Given the description of an element on the screen output the (x, y) to click on. 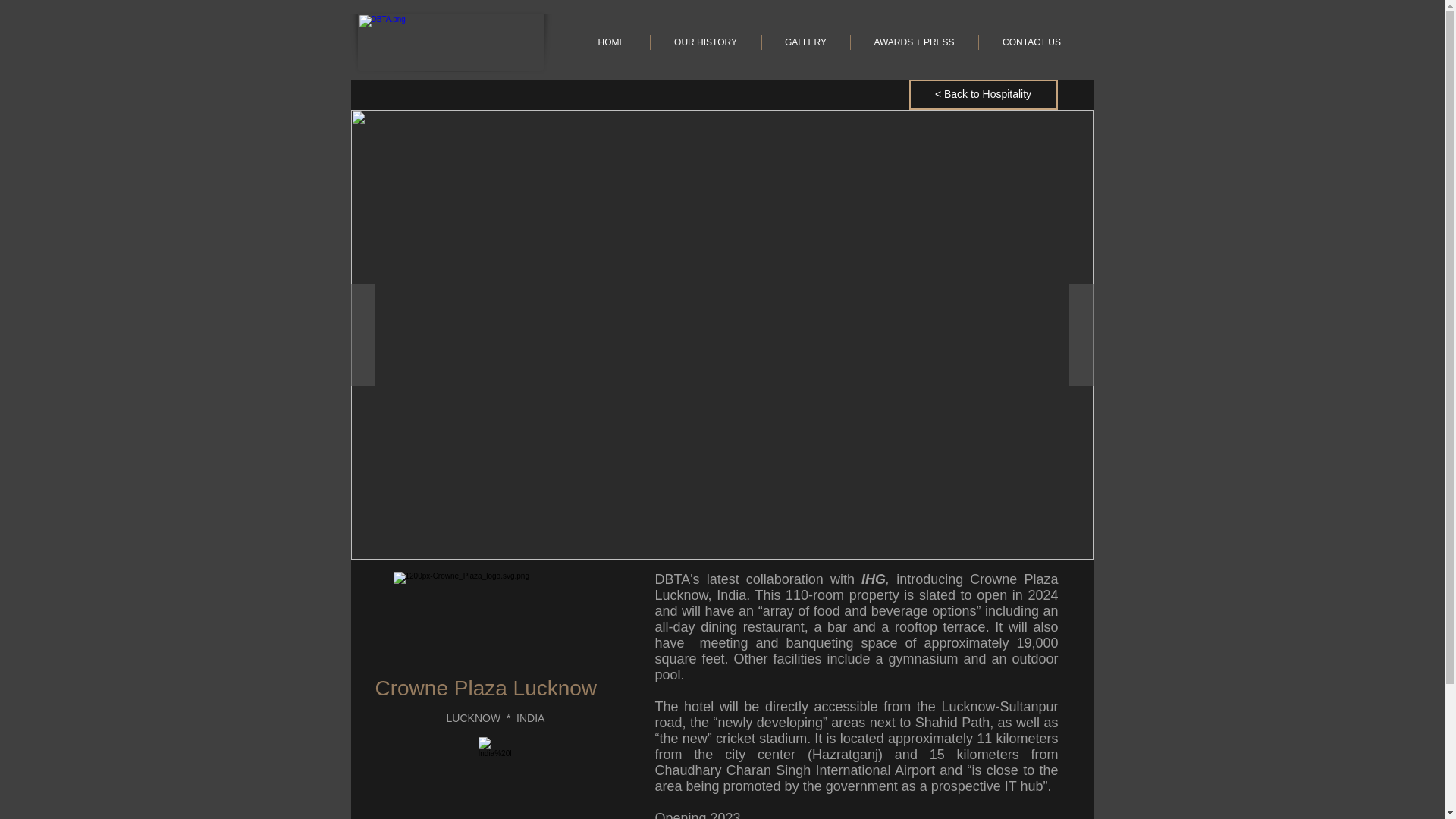
OUR HISTORY (704, 42)
CONTACT US (1031, 42)
HOME (611, 42)
GALLERY (805, 42)
